Given the description of an element on the screen output the (x, y) to click on. 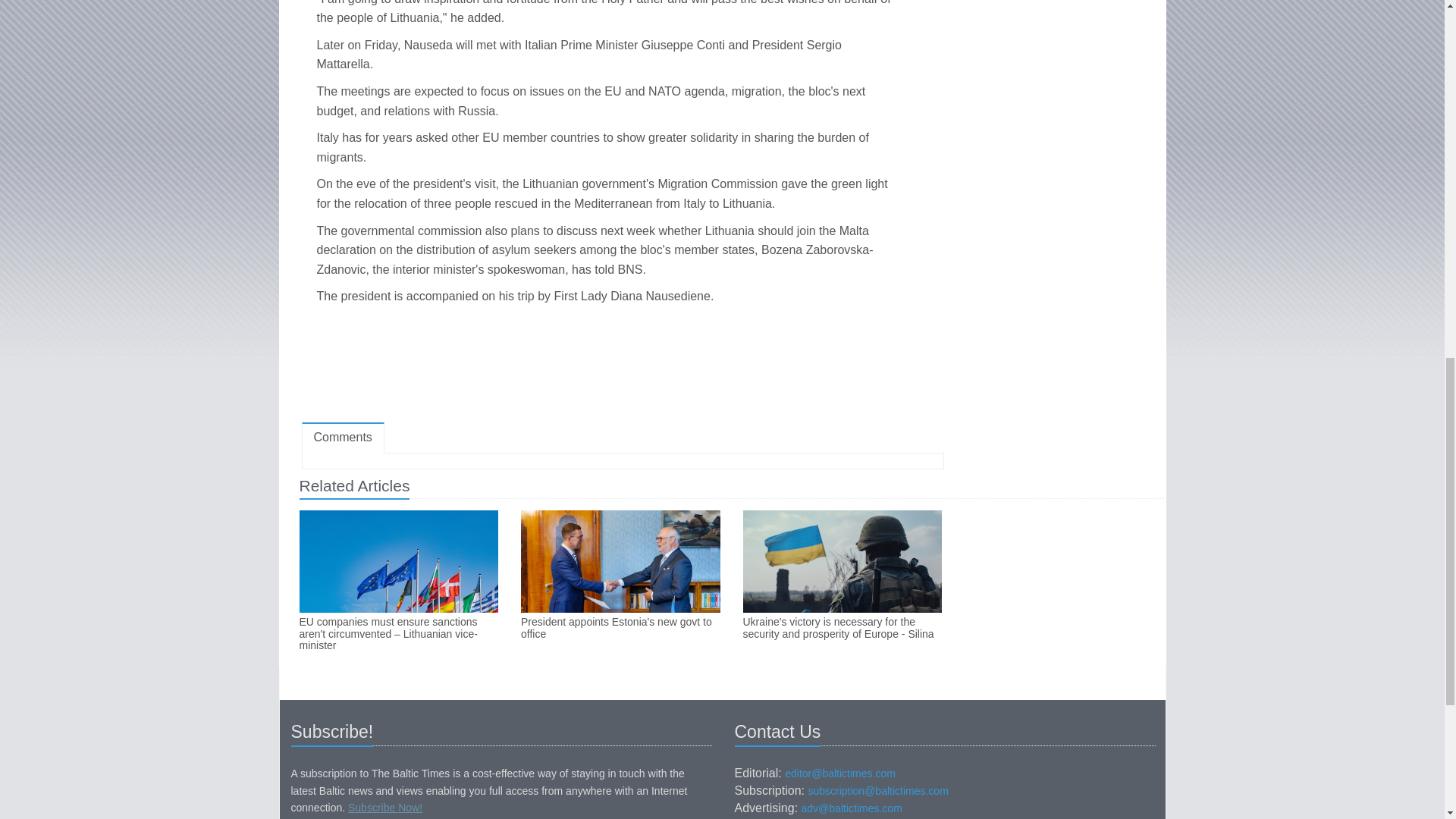
President appoints Estonia's new govt to office (620, 627)
Advertisement (622, 367)
Comments (342, 437)
